Given the description of an element on the screen output the (x, y) to click on. 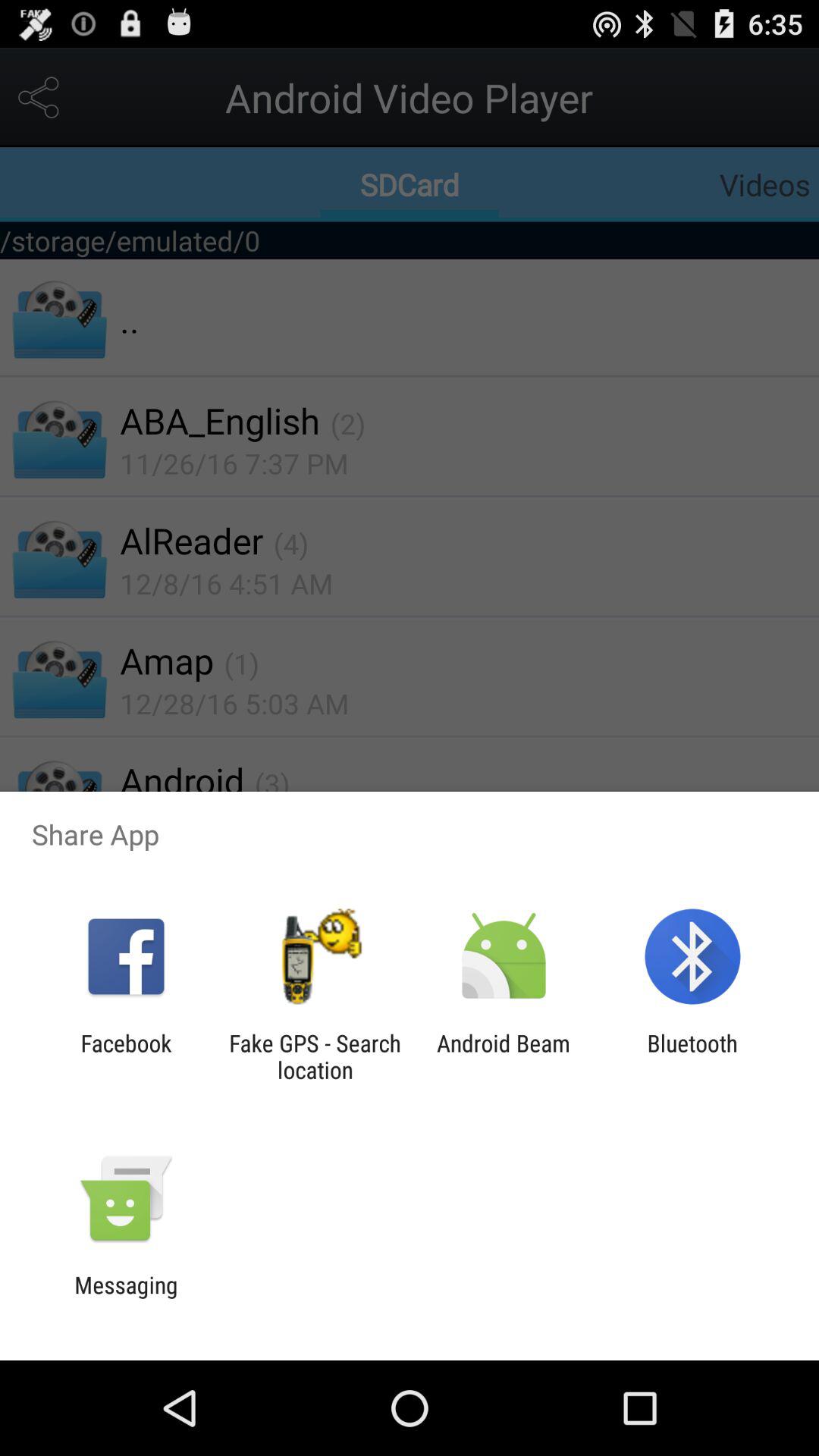
flip until fake gps search icon (314, 1056)
